Given the description of an element on the screen output the (x, y) to click on. 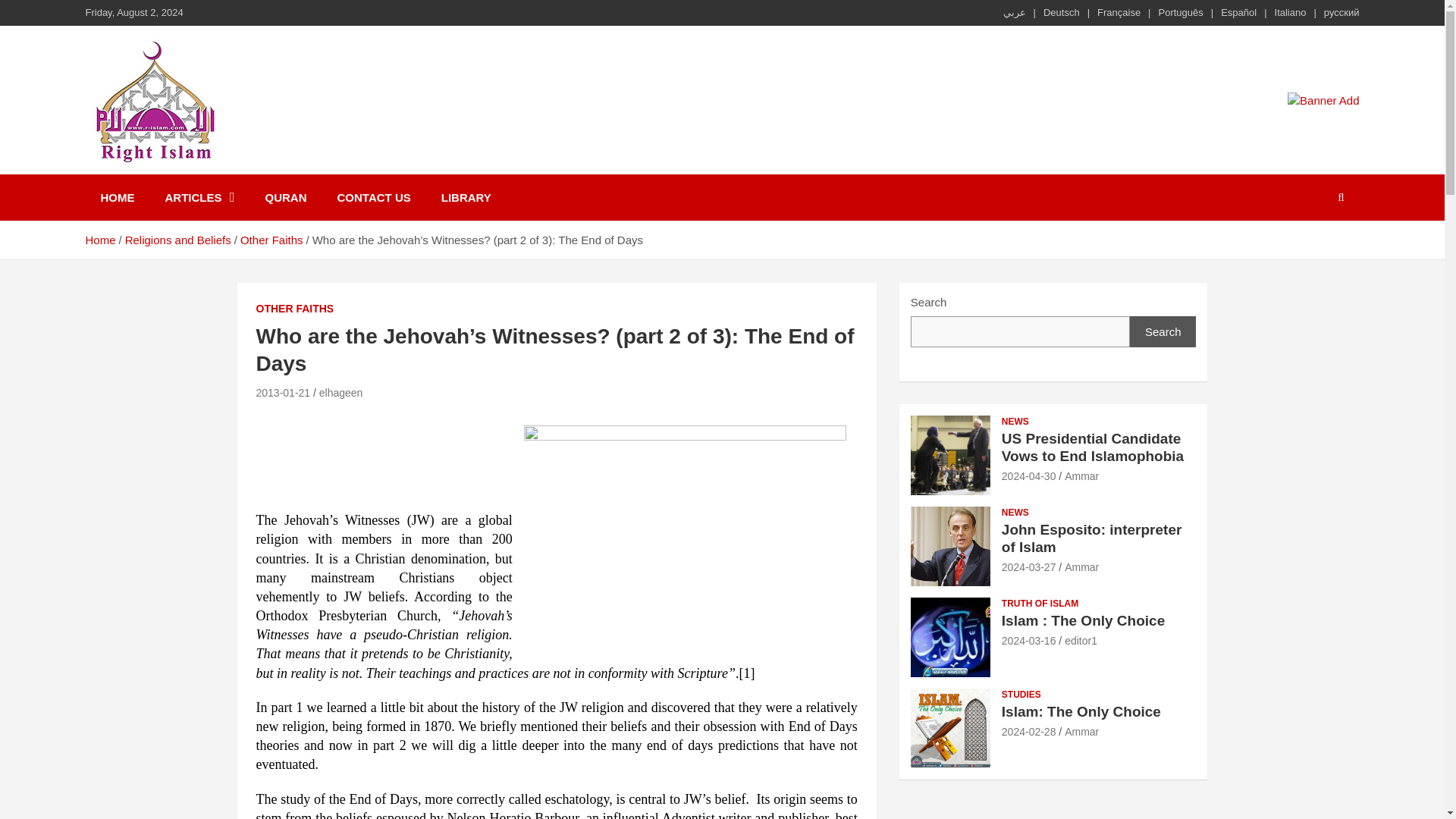
ARTICLES (199, 197)
John Esposito: interpreter of Islam (1029, 567)
Right Islam (166, 187)
Italiano (1290, 12)
US Presidential Candidate Vows to End Islamophobia (1029, 476)
Islam : The Only Choice (1029, 640)
Deutsch (1061, 12)
HOME (116, 197)
Islam: The Only Choice (1029, 731)
QURAN (285, 197)
